Given the description of an element on the screen output the (x, y) to click on. 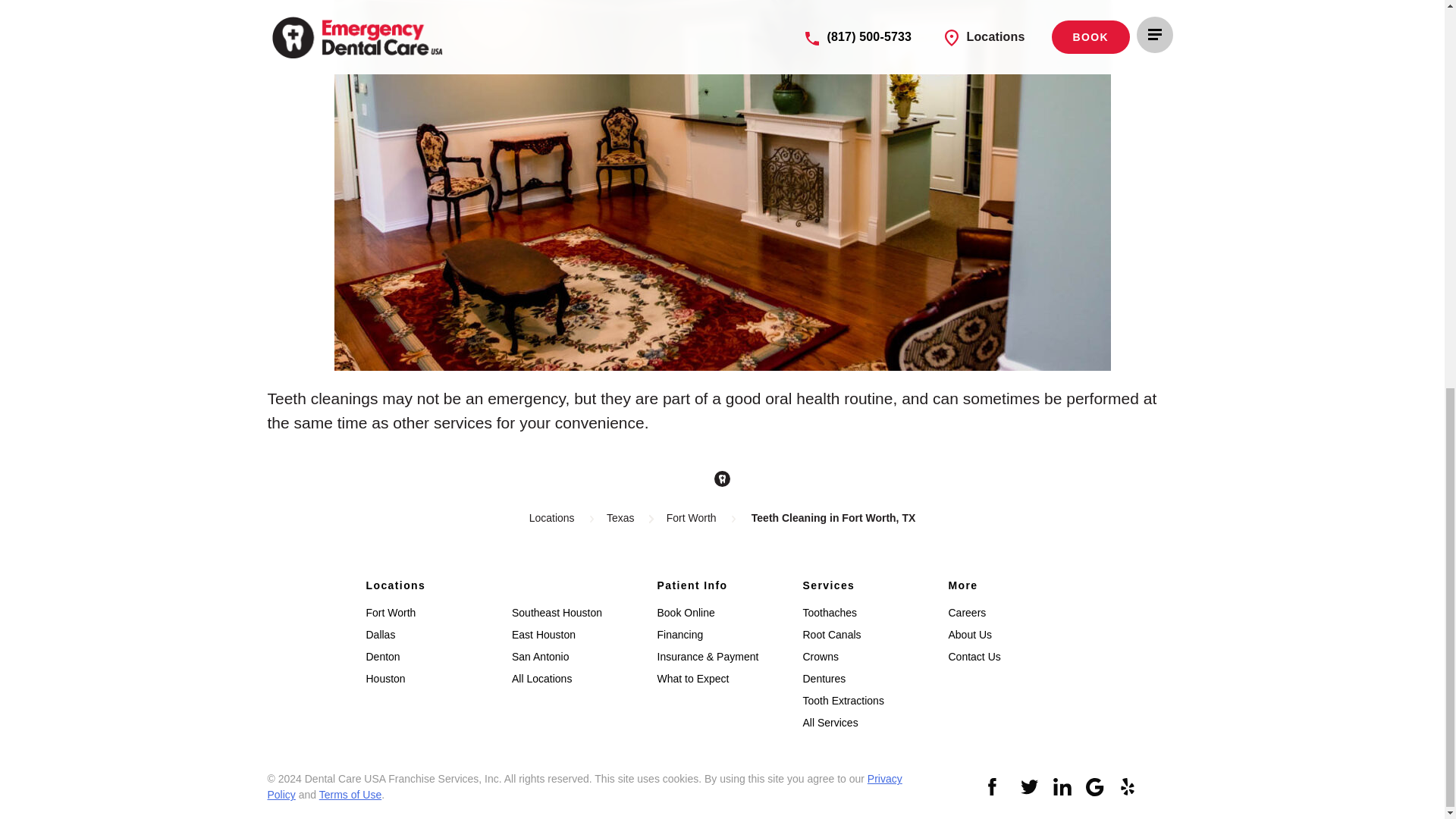
Home (721, 478)
Fort Worth (691, 517)
Twitter (1029, 787)
LinkedIn (1061, 787)
Facebook (997, 787)
Locations (552, 517)
Texas (620, 517)
